Given the description of an element on the screen output the (x, y) to click on. 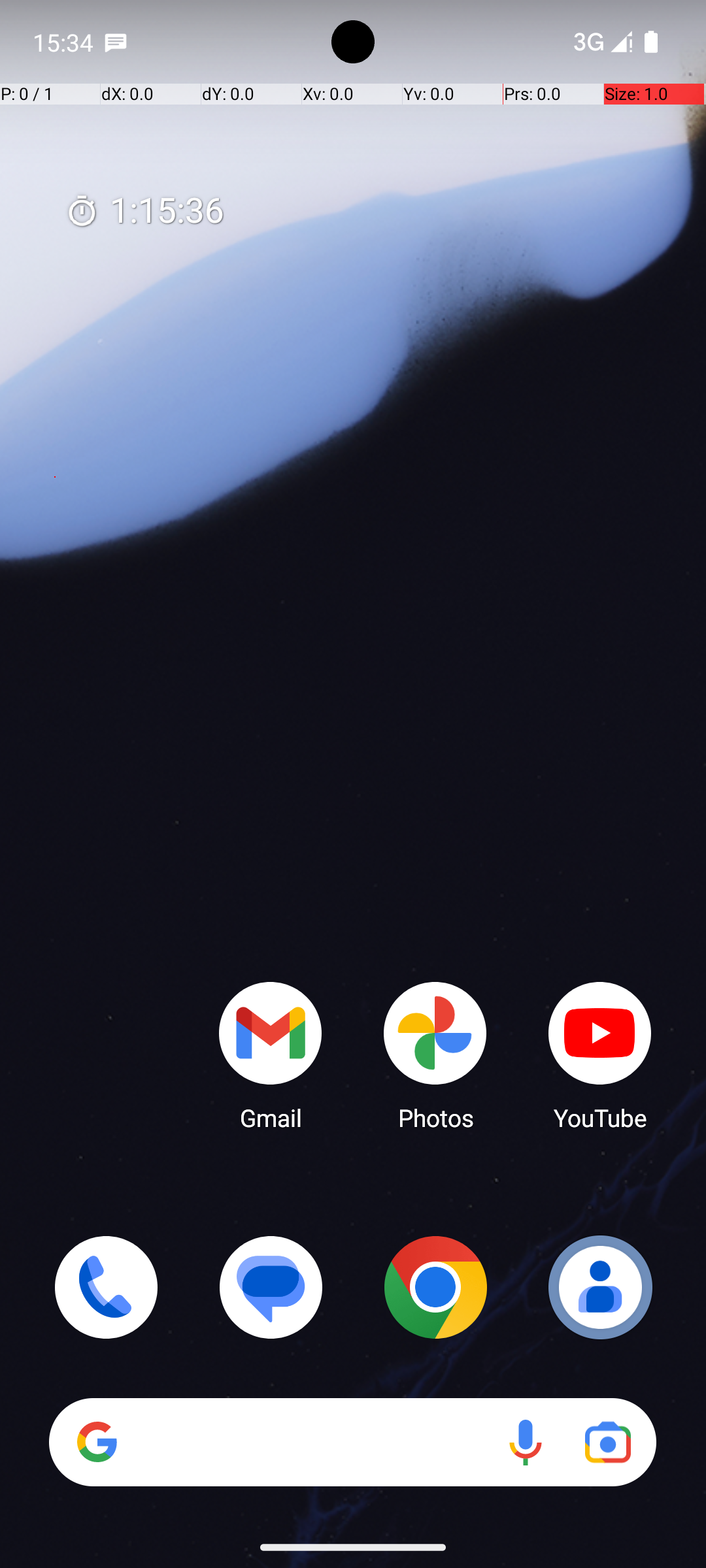
1:15:36 Element type: android.widget.TextView (144, 210)
